Given the description of an element on the screen output the (x, y) to click on. 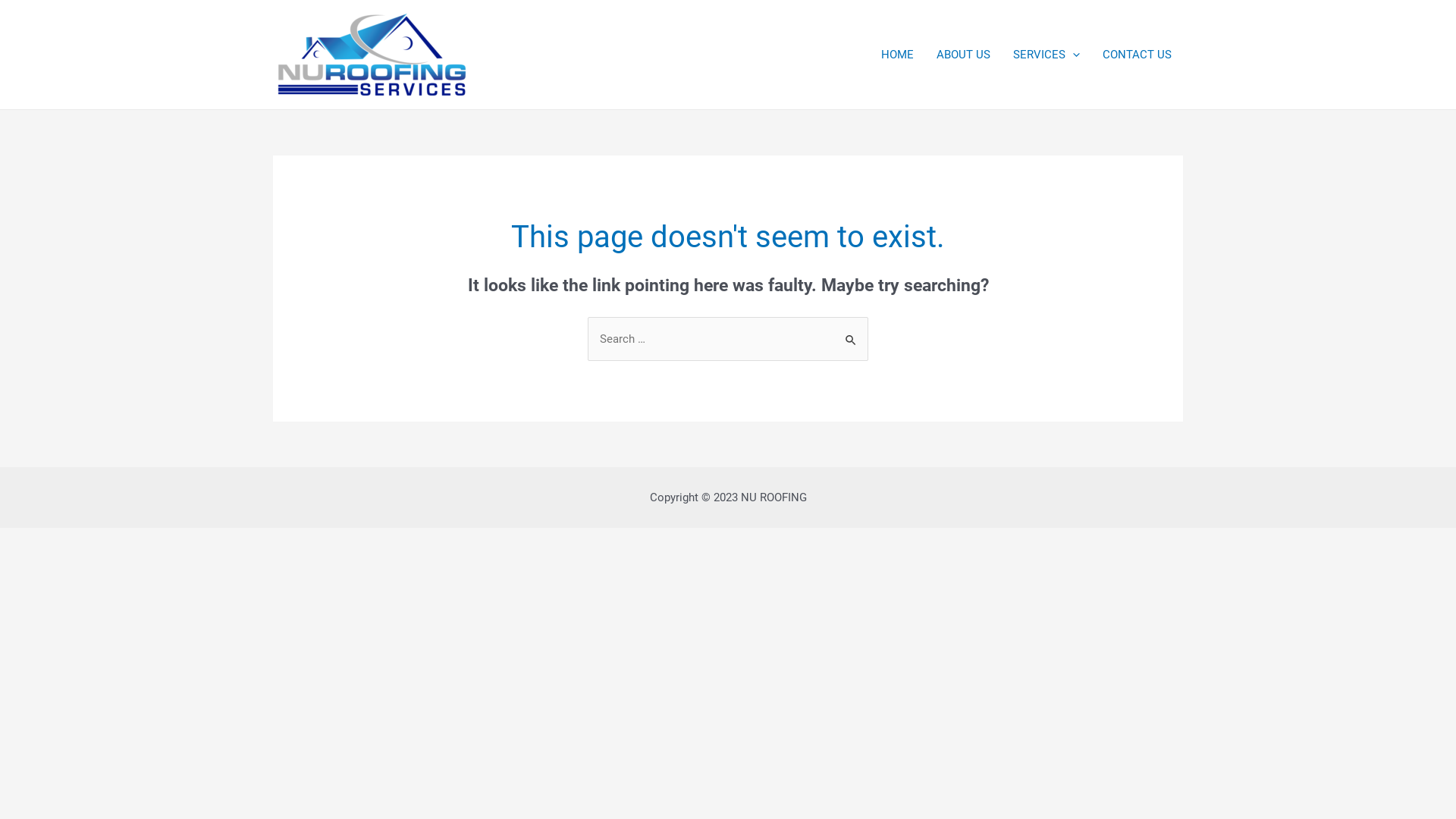
ABOUT US Element type: text (963, 54)
Search Element type: text (851, 332)
CONTACT US Element type: text (1137, 54)
SERVICES Element type: text (1046, 54)
HOME Element type: text (897, 54)
